Given the description of an element on the screen output the (x, y) to click on. 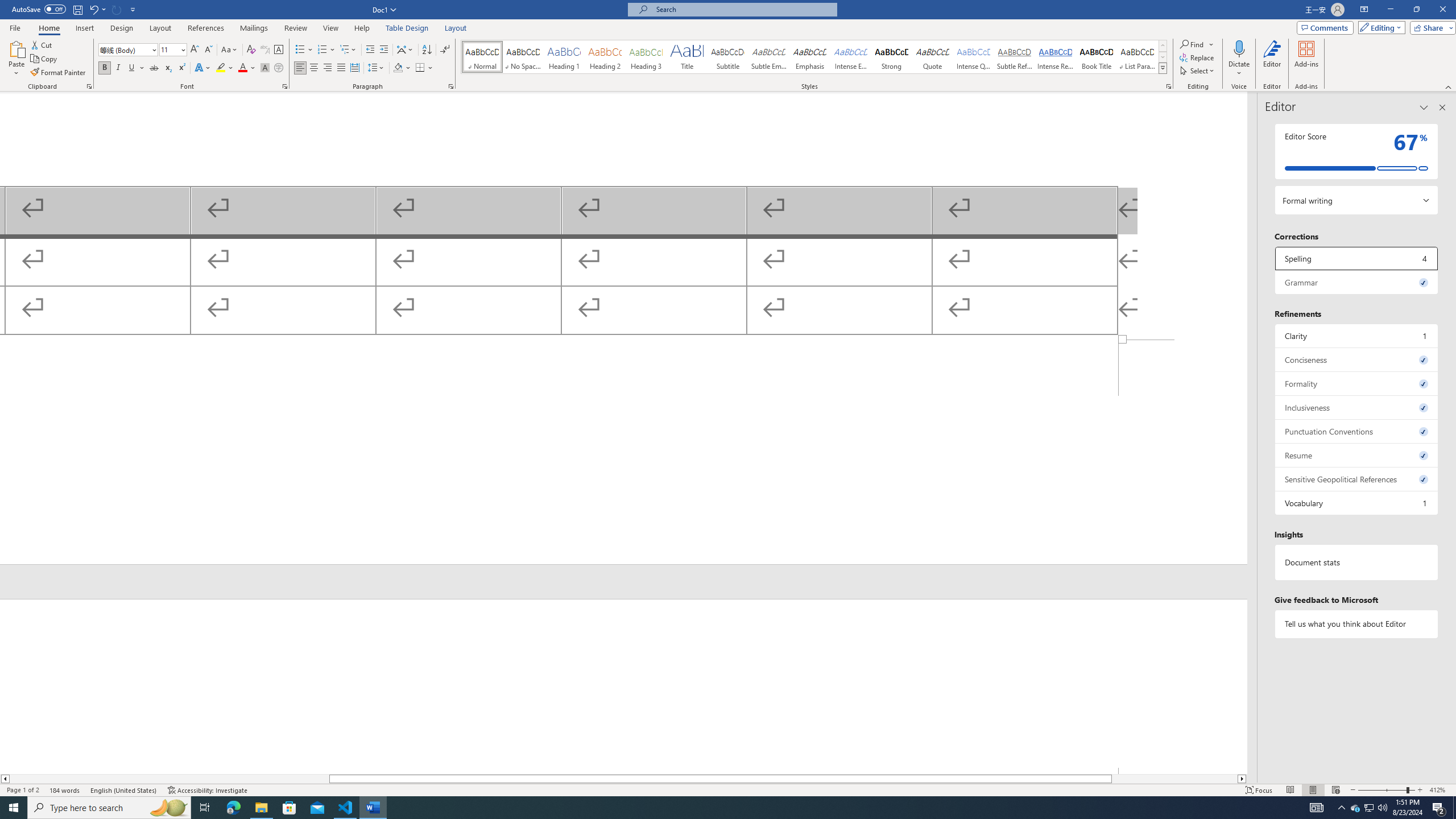
Align Right (327, 67)
Font Color (246, 67)
Subtle Reference (1014, 56)
Book Title (1095, 56)
Editor (1272, 58)
Intense Emphasis (849, 56)
Styles... (1168, 85)
Editing (1379, 27)
